Given the description of an element on the screen output the (x, y) to click on. 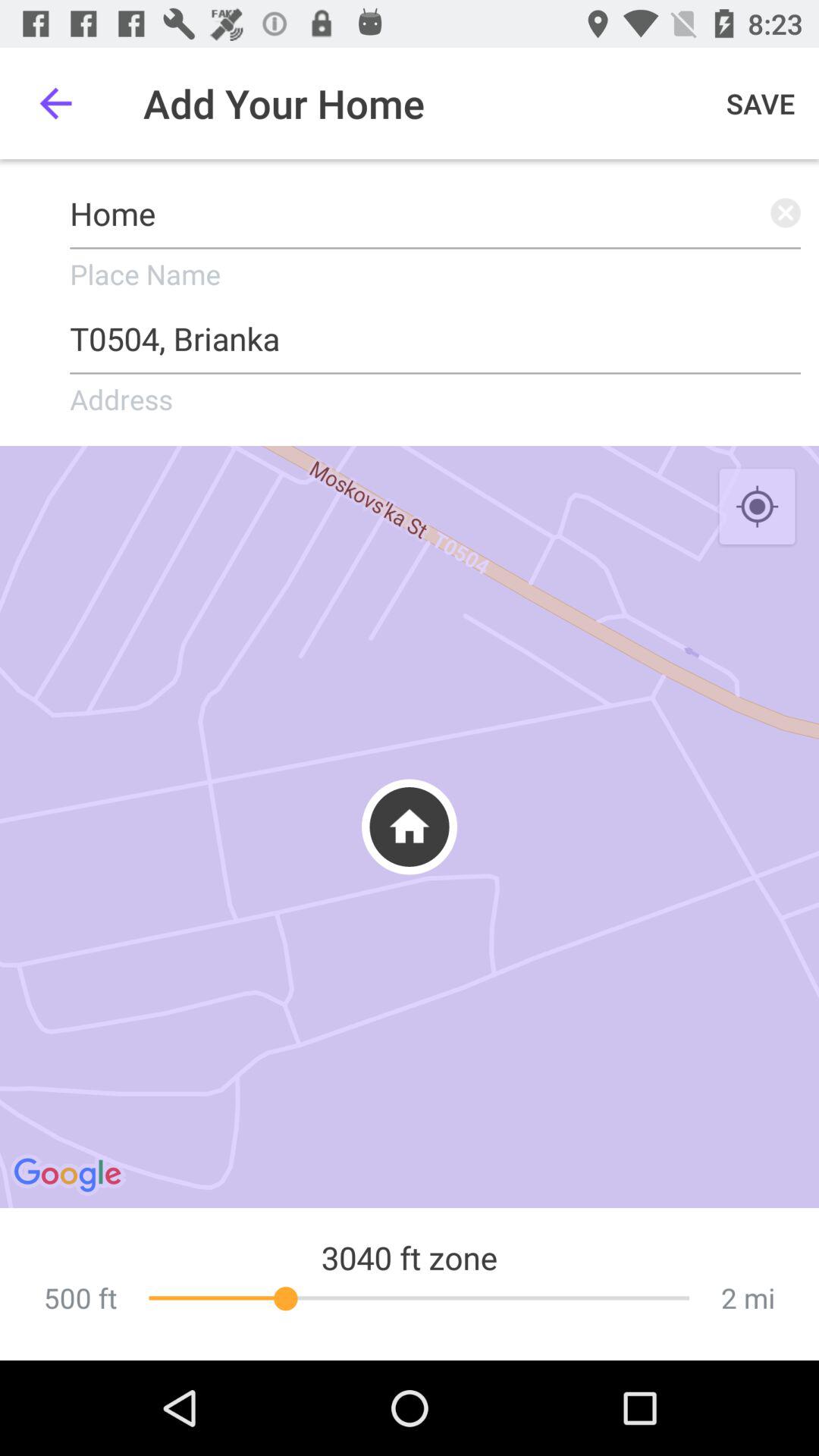
click the icon on the right (757, 507)
